Given the description of an element on the screen output the (x, y) to click on. 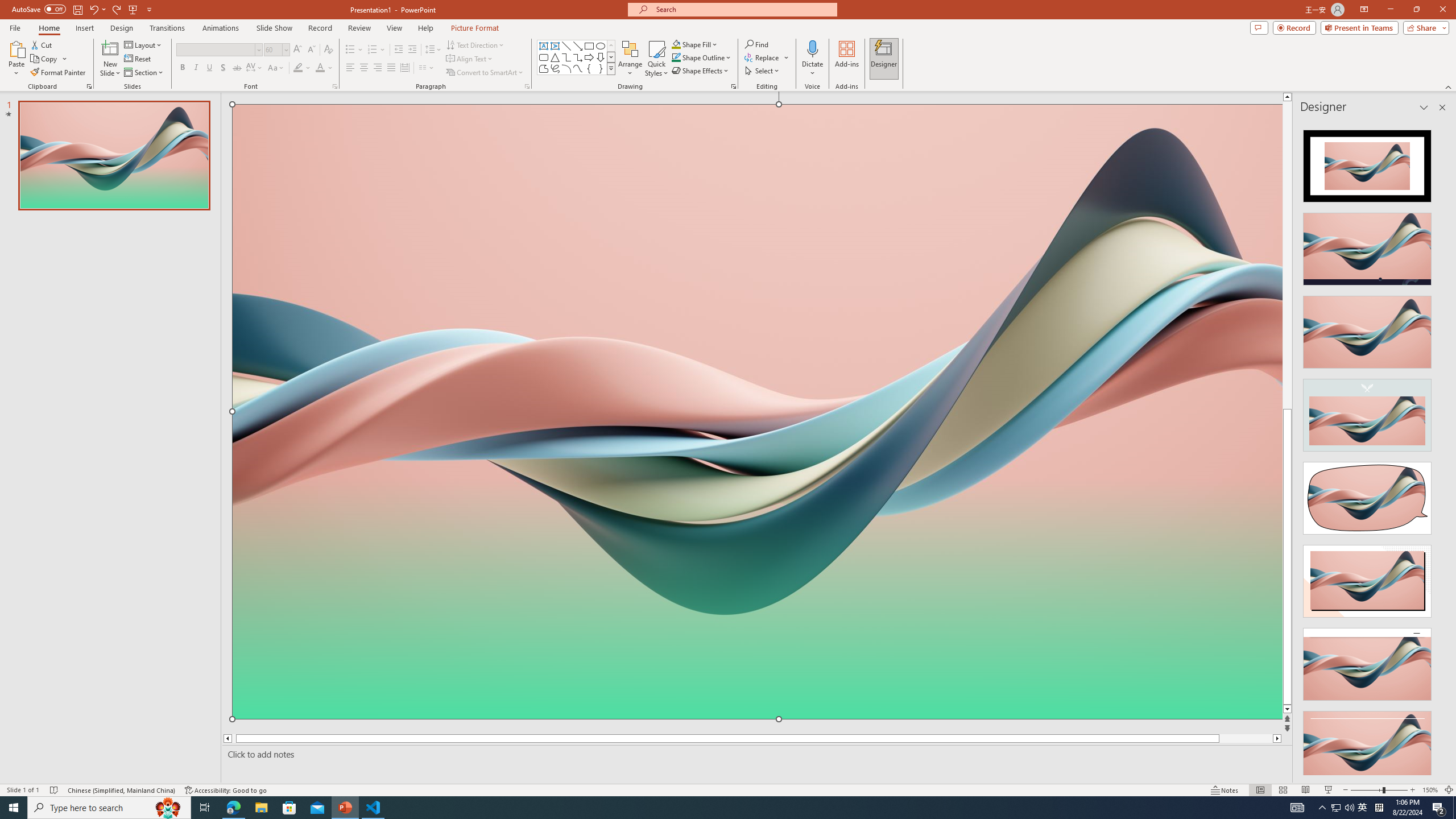
Zoom 150% (1430, 790)
